Given the description of an element on the screen output the (x, y) to click on. 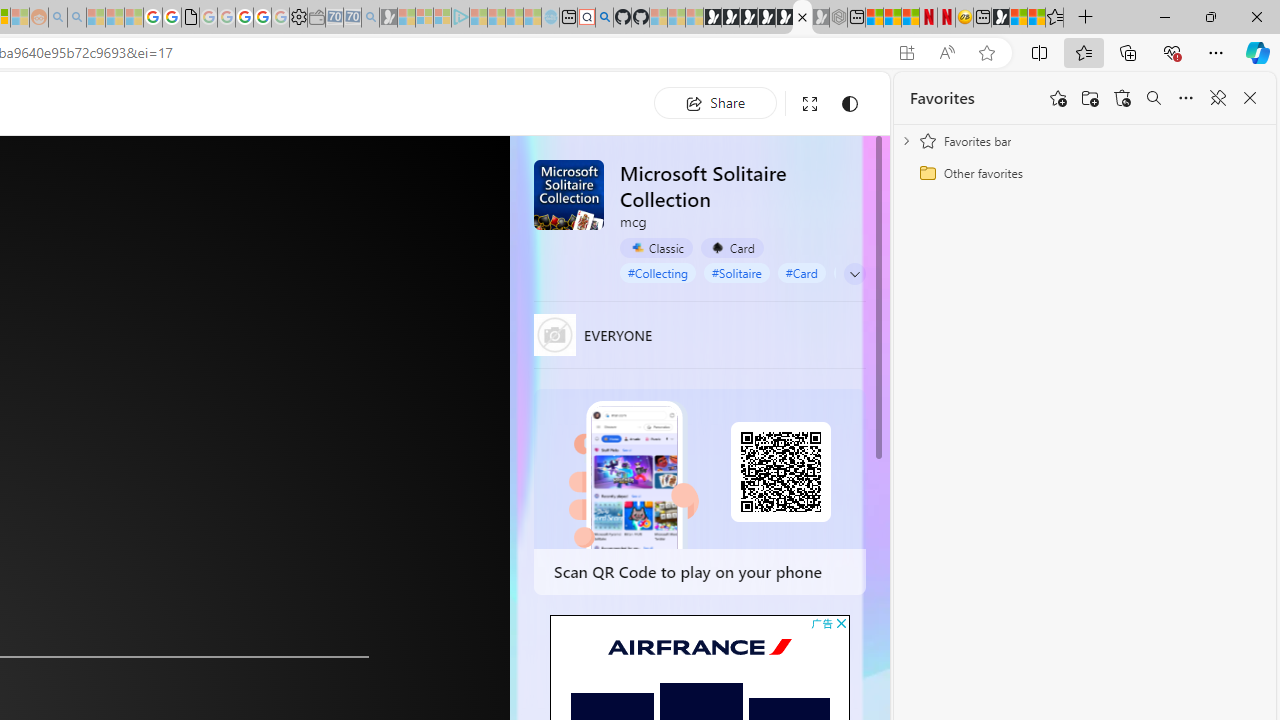
Classic (656, 247)
Bing Real Estate - Home sales and rental listings - Sleeping (370, 17)
Add this page to favorites (1058, 98)
#Solitaire (737, 272)
Class: control (855, 273)
Search favorites (1153, 98)
